Given the description of an element on the screen output the (x, y) to click on. 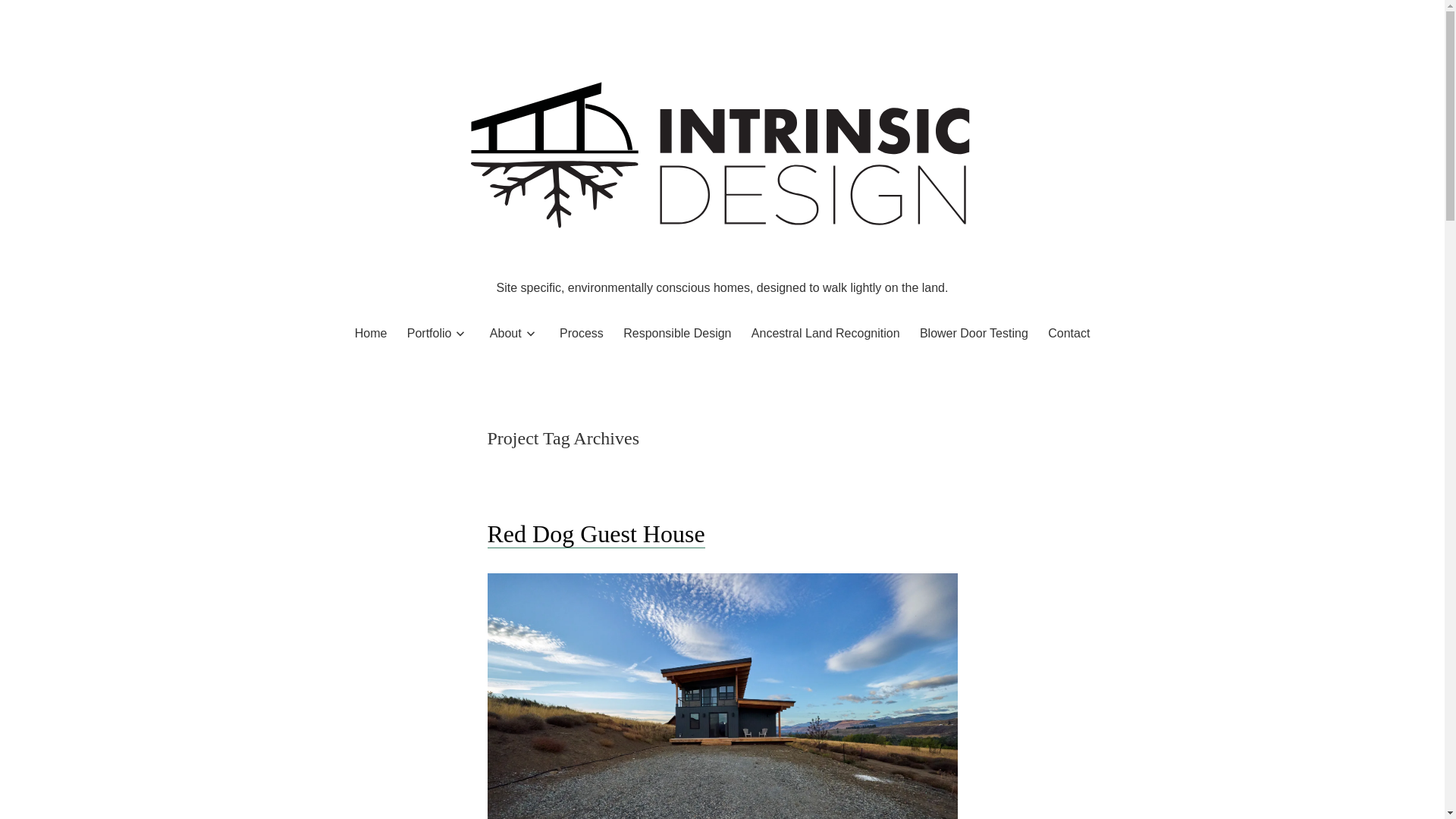
Blower Door Testing (973, 332)
Process (581, 332)
About (505, 332)
Responsible Design (676, 332)
Contact (1068, 332)
Ancestral Land Recognition (825, 332)
Portfolio (429, 332)
Red Dog Guest House (595, 533)
Home (371, 332)
